Given the description of an element on the screen output the (x, y) to click on. 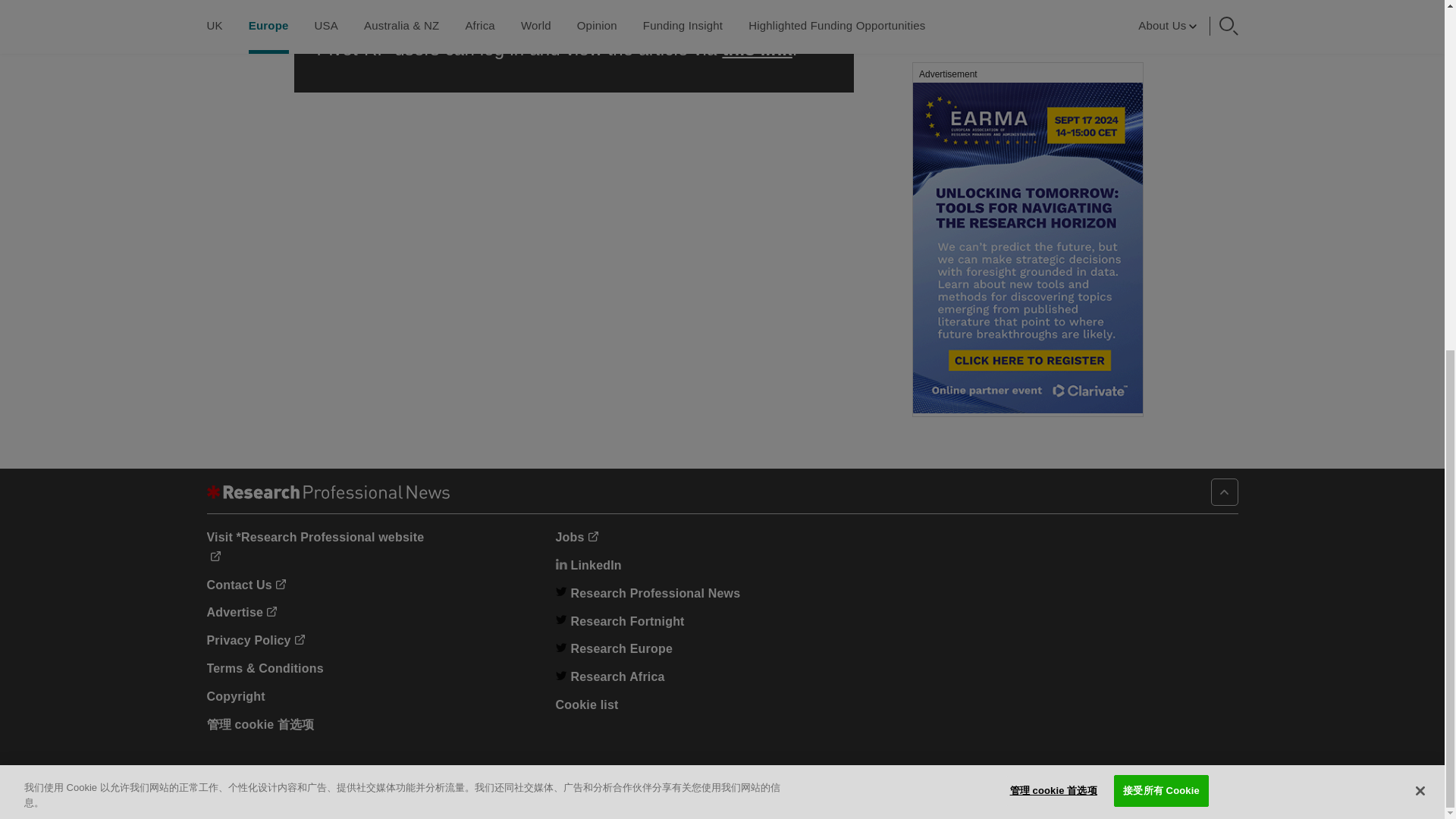
Manage cookies (260, 724)
this link (352, 5)
3rd party ad content (1026, 24)
Privacy Policy (255, 640)
Contact Us (245, 584)
this link (757, 48)
Copyright (235, 696)
Advertise (241, 612)
